Given the description of an element on the screen output the (x, y) to click on. 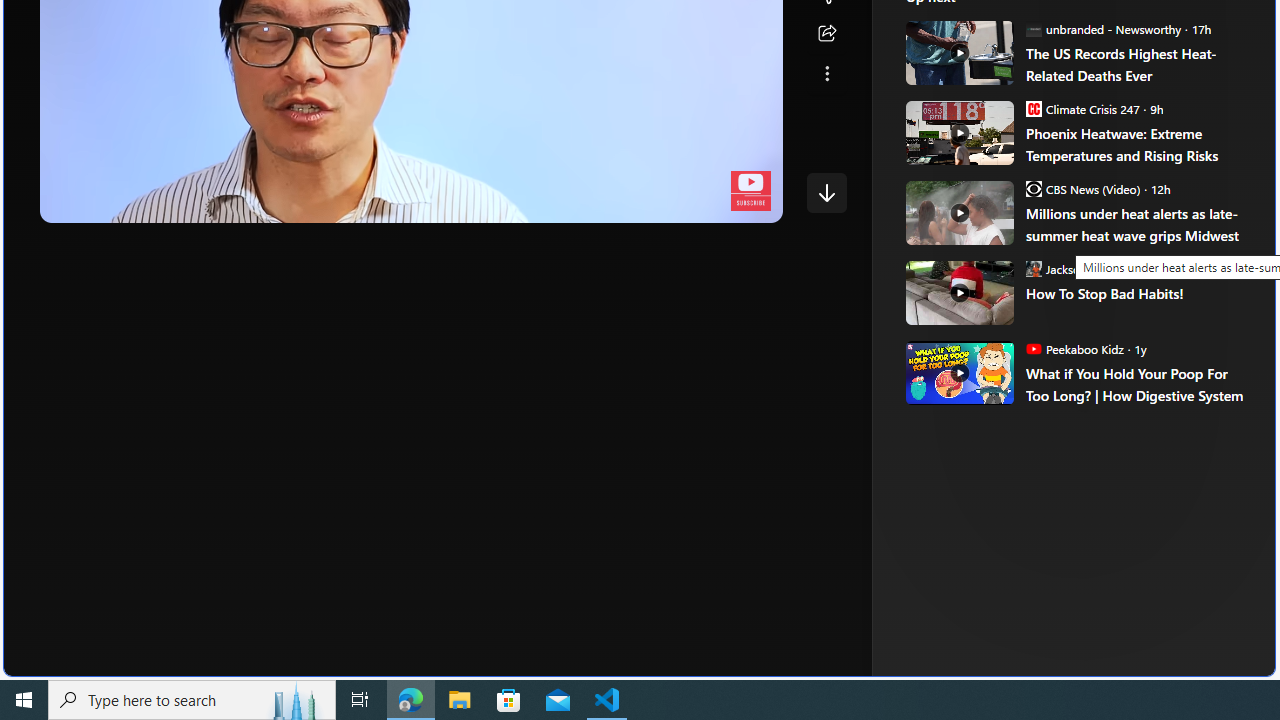
See more (826, 74)
Ad Choice (1212, 336)
Pause (k) (75, 202)
Share this story (826, 33)
Share this story (826, 33)
intro (397, 202)
Seek slider (411, 182)
ABC News (974, 12)
Ad (963, 337)
CBS News (Video) (1033, 188)
Nordace (1003, 337)
